Given the description of an element on the screen output the (x, y) to click on. 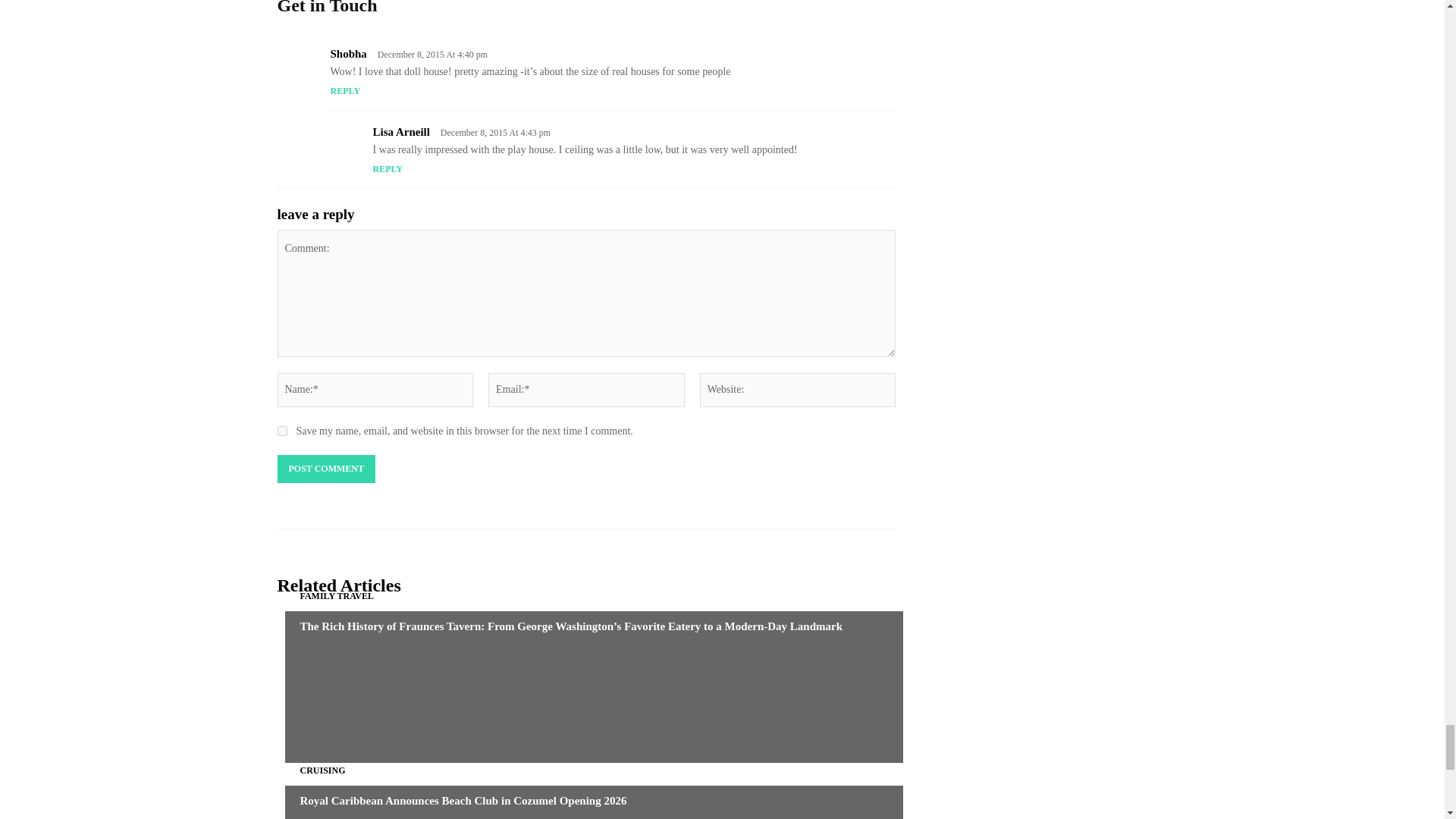
yes (282, 430)
Post Comment (326, 469)
